Given the description of an element on the screen output the (x, y) to click on. 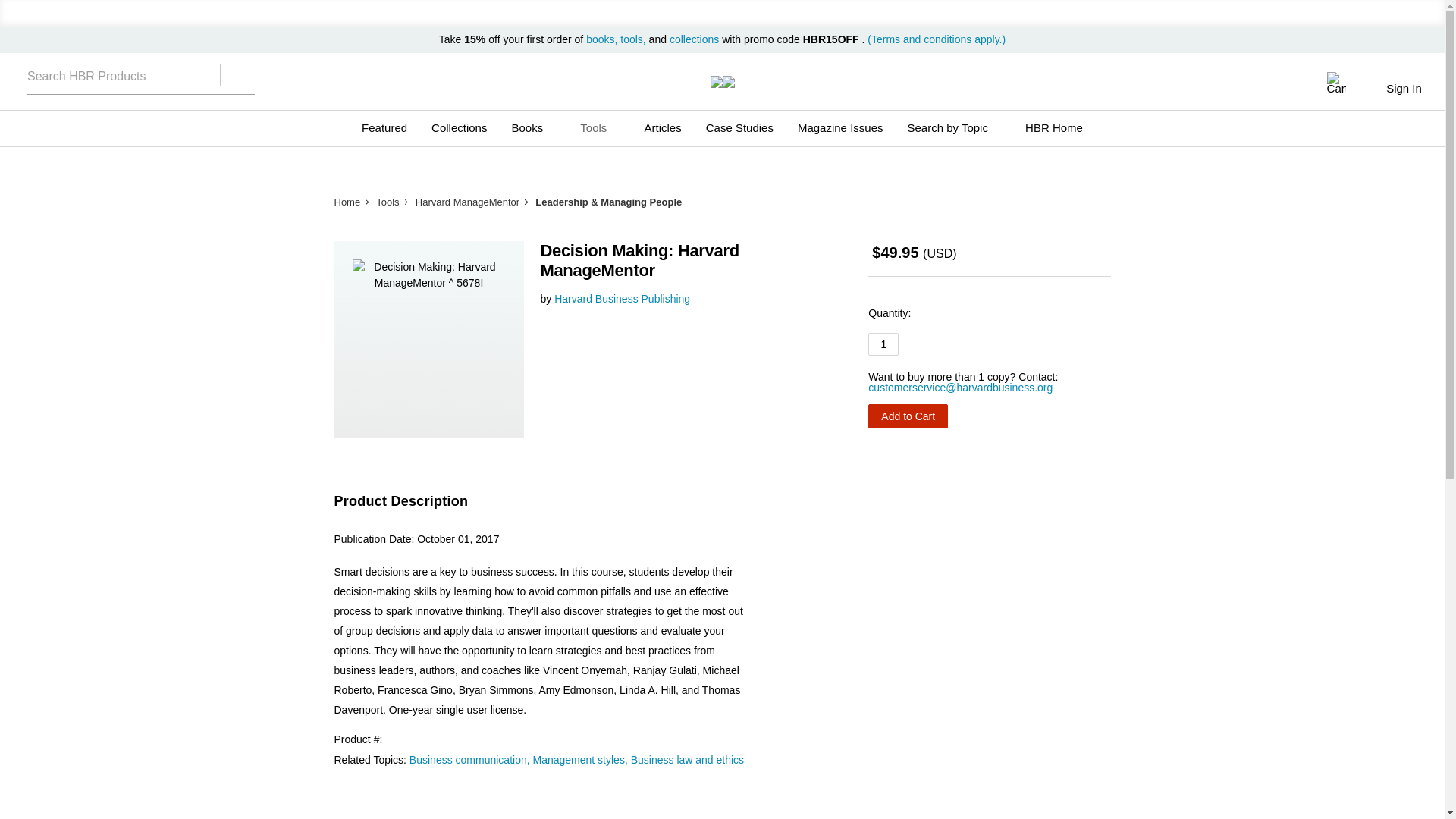
Add to Cart (907, 416)
1 (882, 343)
Tools (599, 127)
Books (533, 127)
tools, (632, 39)
Collections (459, 127)
books, (603, 39)
collections (694, 39)
HBR.ORG - Prod (716, 81)
Featured (384, 127)
